Given the description of an element on the screen output the (x, y) to click on. 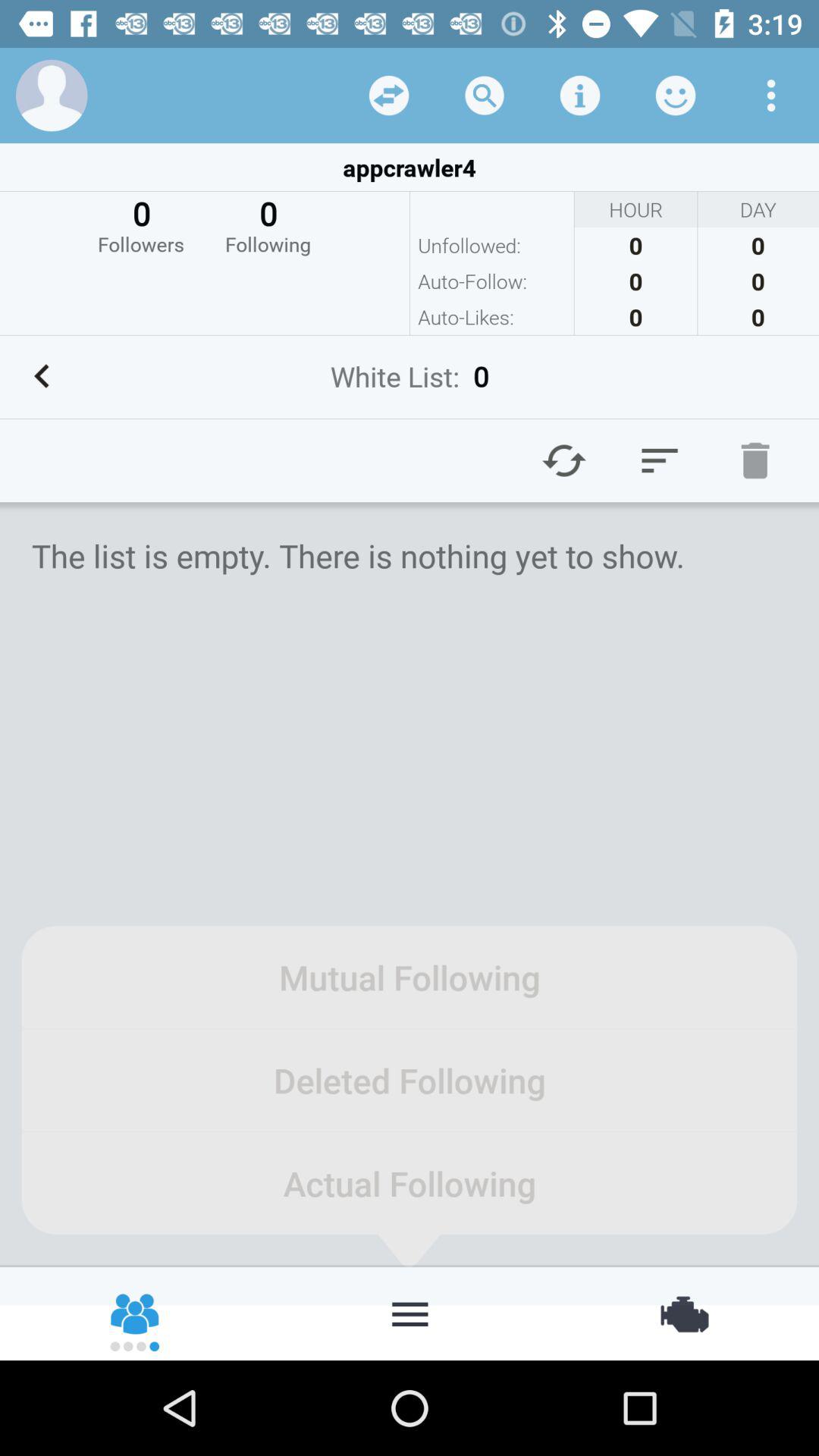
tap for info (579, 95)
